Given the description of an element on the screen output the (x, y) to click on. 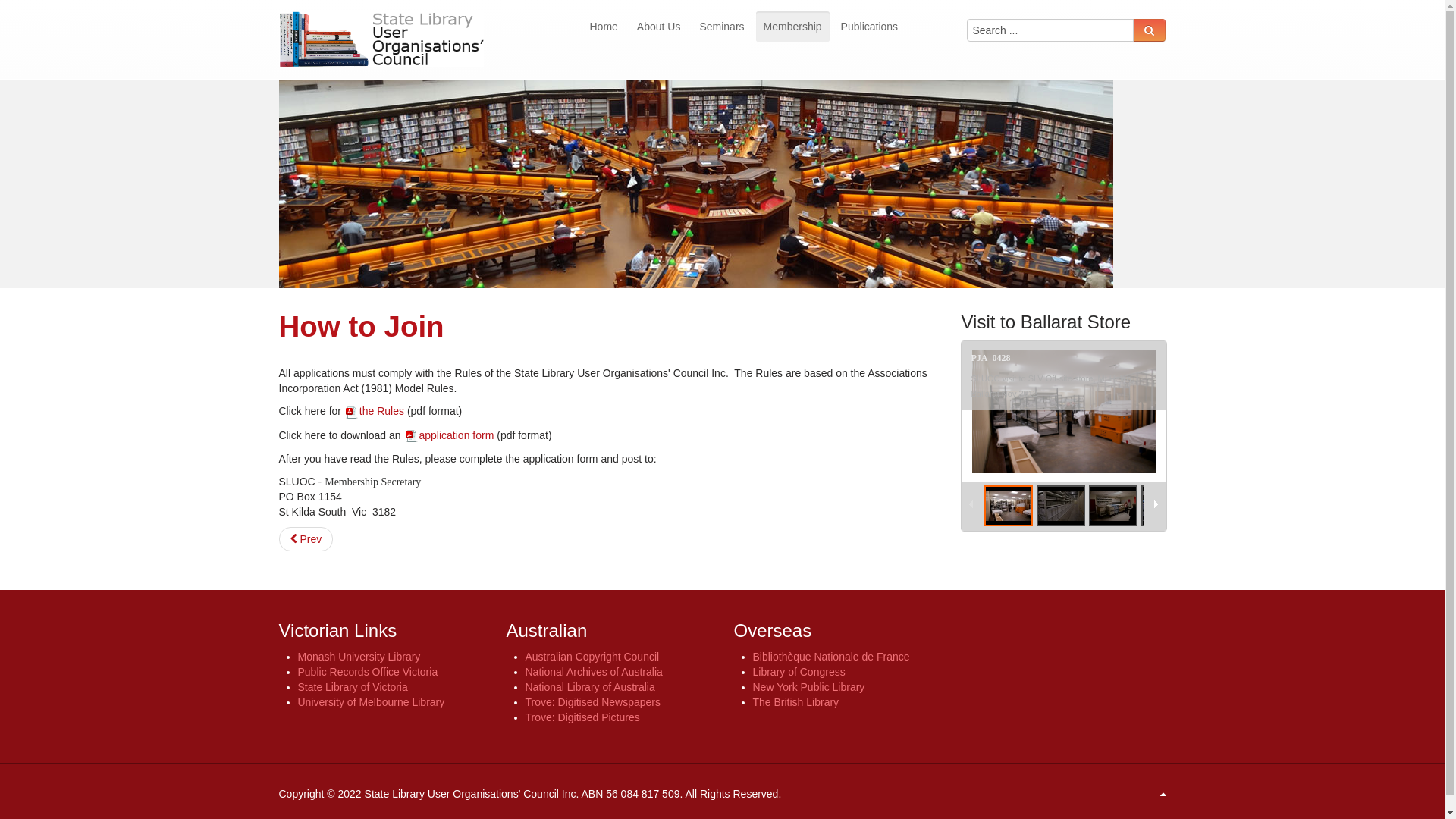
Goto Top Element type: hover (1163, 793)
About Us Element type: text (658, 26)
Australian Copyright Council Element type: text (591, 656)
Monash University Library Element type: text (358, 656)
How to Join Element type: text (361, 326)
Trove: Digitised Pictures Element type: text (581, 717)
Membership Element type: text (792, 26)
Library of Congress Element type: text (798, 671)
National Archives of Australia Element type: text (593, 671)
Public Records Office Victoria Element type: text (367, 671)
Trove: Digitised Newspapers Element type: text (591, 702)
application form Element type: text (448, 435)
Seminars Element type: text (721, 26)
State Library of Victoria Element type: text (352, 686)
Publications Element type: text (869, 26)
National Library of Australia Element type: text (589, 686)
Home Element type: text (602, 26)
New York Public Library Element type: text (808, 686)
the Rules Element type: text (374, 410)
Prev Element type: text (306, 539)
The British Library Element type: text (795, 702)
University of Melbourne Library Element type: text (370, 702)
